Given the description of an element on the screen output the (x, y) to click on. 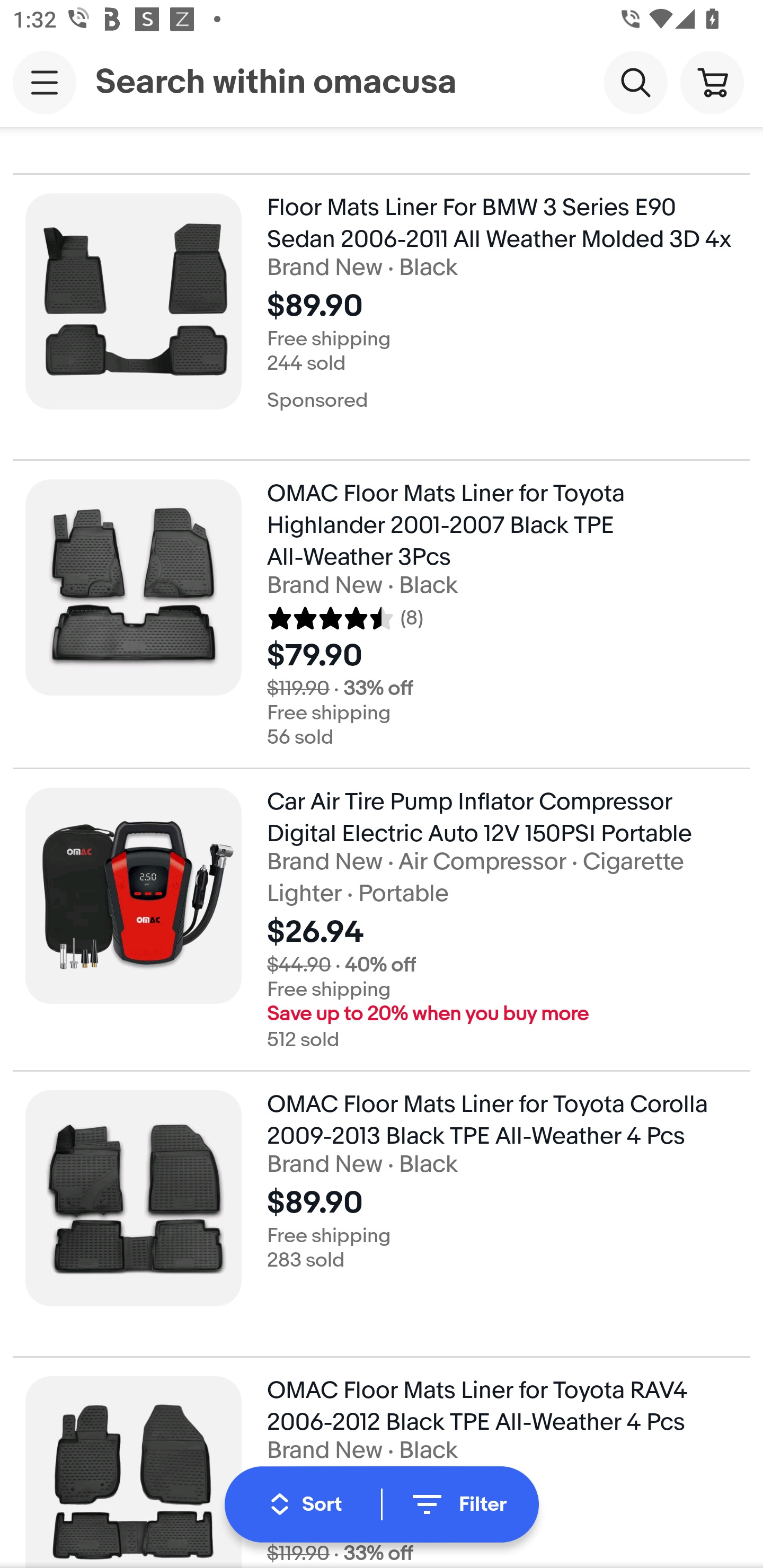
Main navigation, open (44, 82)
Search (635, 81)
Cart button shopping cart (711, 81)
Sort (305, 1504)
Filter (457, 1504)
